Given the description of an element on the screen output the (x, y) to click on. 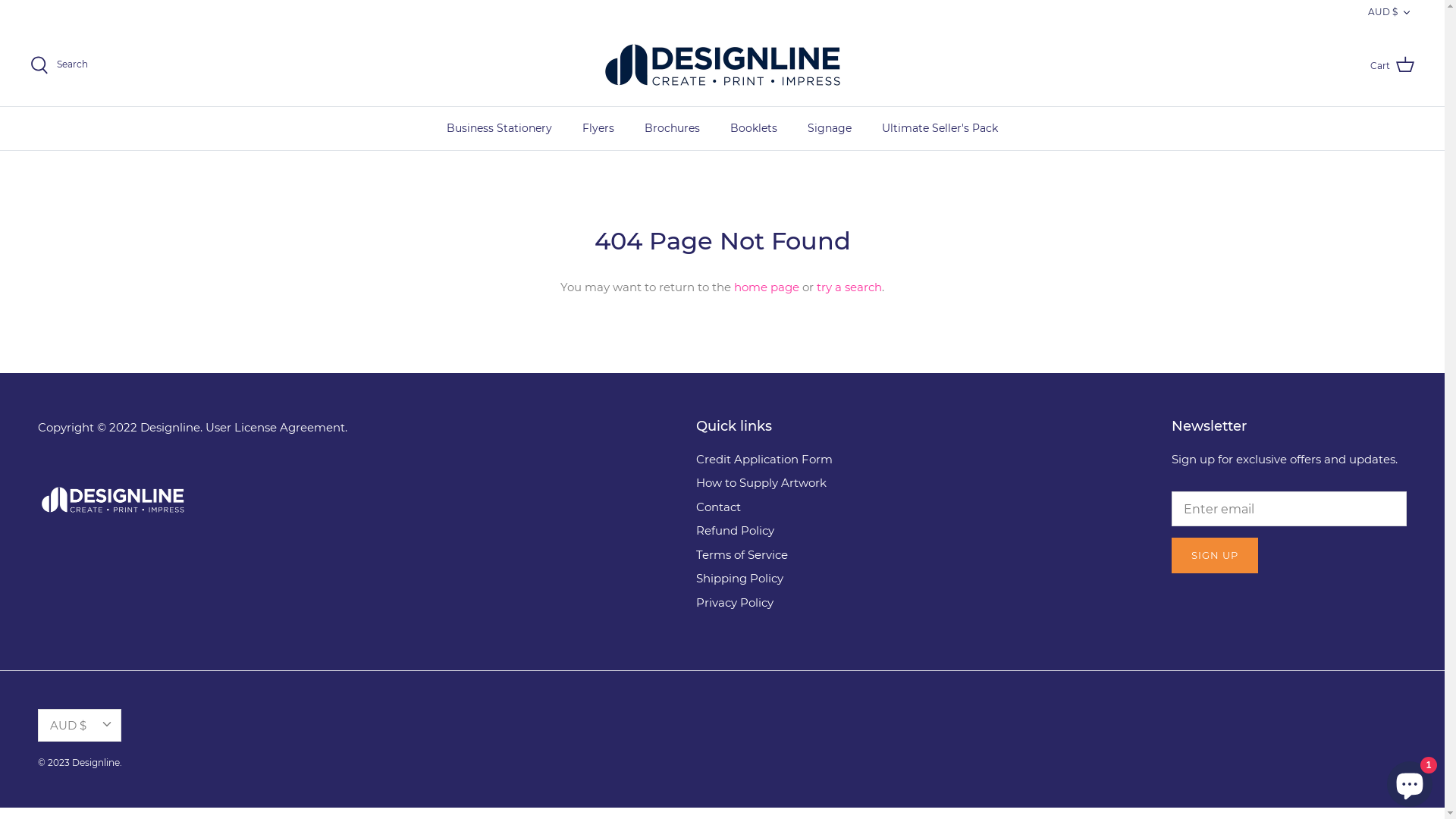
Signage Element type: text (829, 128)
Business Stationery Element type: text (499, 128)
Shipping Policy Element type: text (739, 578)
AUD $
Down Element type: text (1391, 12)
How to Supply Artwork Element type: text (761, 482)
Privacy Policy Element type: text (734, 602)
Terms of Service Element type: text (741, 554)
Designline Element type: hover (722, 65)
Refund Policy Element type: text (735, 530)
Contact Element type: text (718, 506)
Cart Element type: text (1392, 65)
Search Element type: text (58, 65)
Shopify online store chat Element type: hover (1409, 780)
Designline Element type: text (95, 762)
Booklets Element type: text (753, 128)
Flyers Element type: text (597, 128)
Ultimate Seller's Pack Element type: text (939, 128)
Credit Application Form Element type: text (764, 458)
try a search Element type: text (848, 286)
AUD $
Down Element type: text (79, 725)
home page Element type: text (766, 286)
Brochures Element type: text (671, 128)
SIGN UP Element type: text (1214, 554)
